Given the description of an element on the screen output the (x, y) to click on. 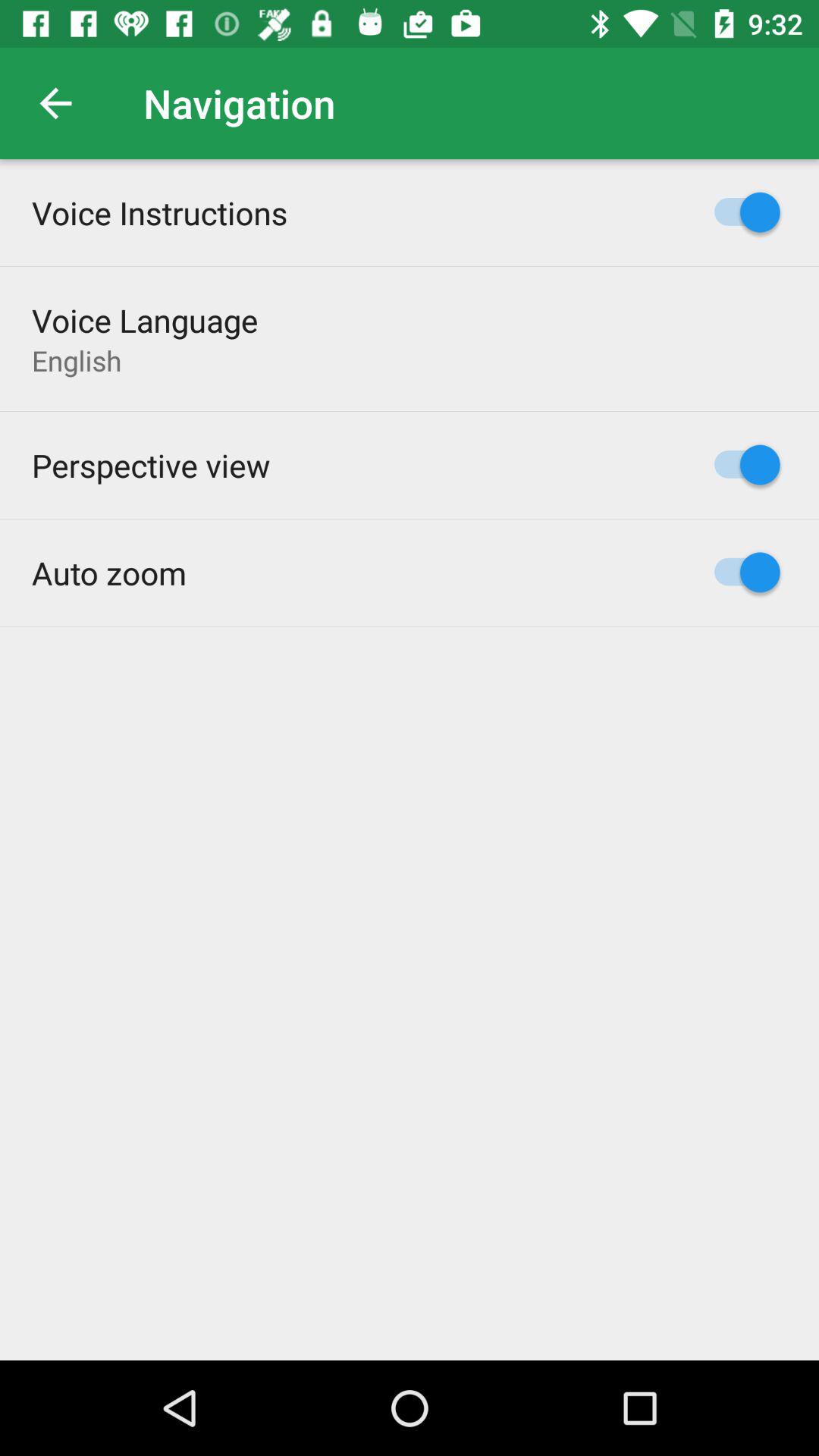
jump to english icon (76, 360)
